Given the description of an element on the screen output the (x, y) to click on. 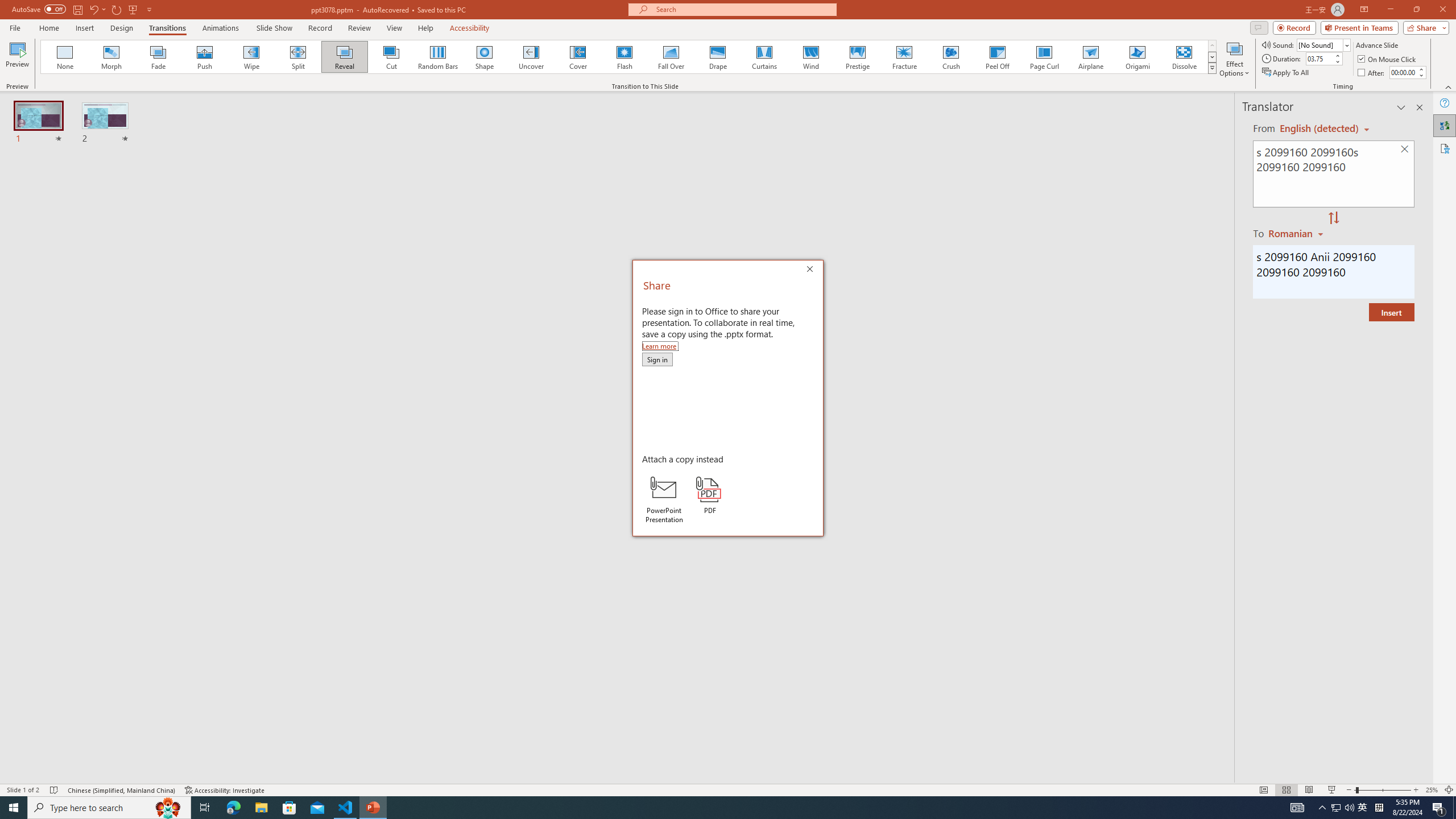
Effect Options (1234, 58)
Flash (624, 56)
Apply To All (1286, 72)
Fade (158, 56)
Dissolve (1183, 56)
Split (298, 56)
